Given the description of an element on the screen output the (x, y) to click on. 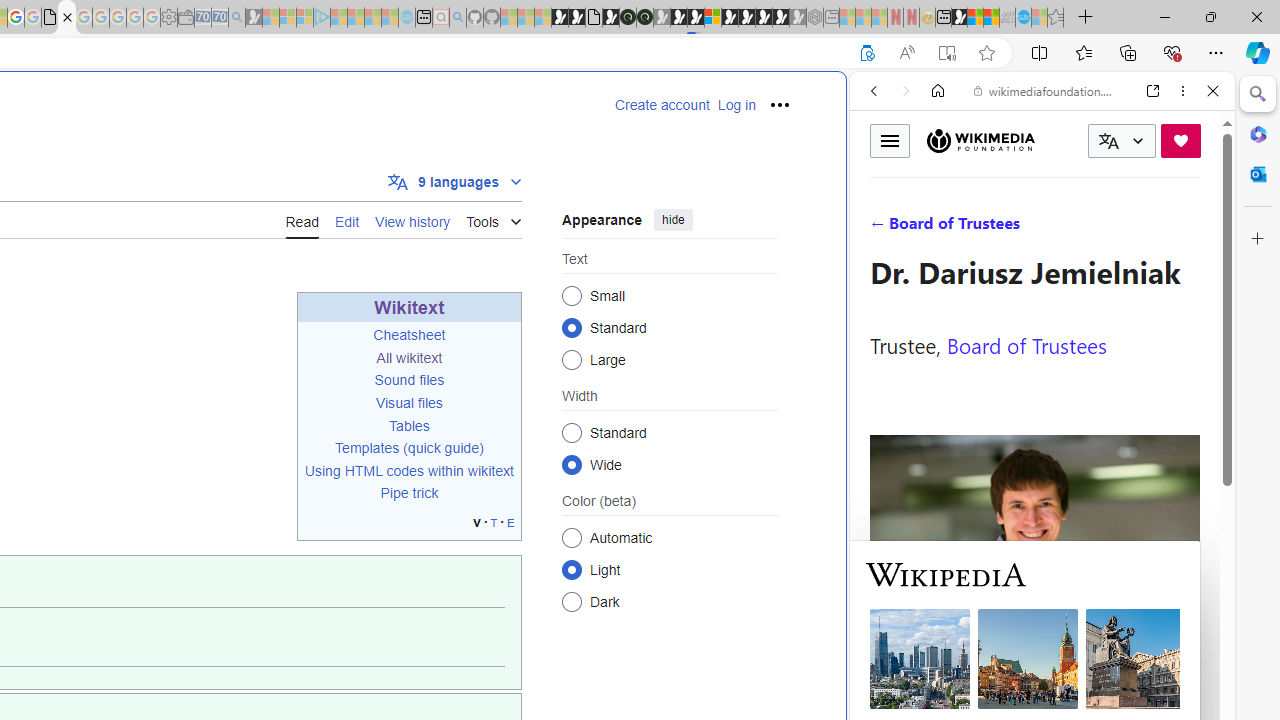
Sound files (409, 380)
Board of Trustees (1026, 344)
Future Focus Report 2024 (644, 17)
Class: mw-list-item mw-list-item-js (669, 569)
View history (412, 219)
